Given the description of an element on the screen output the (x, y) to click on. 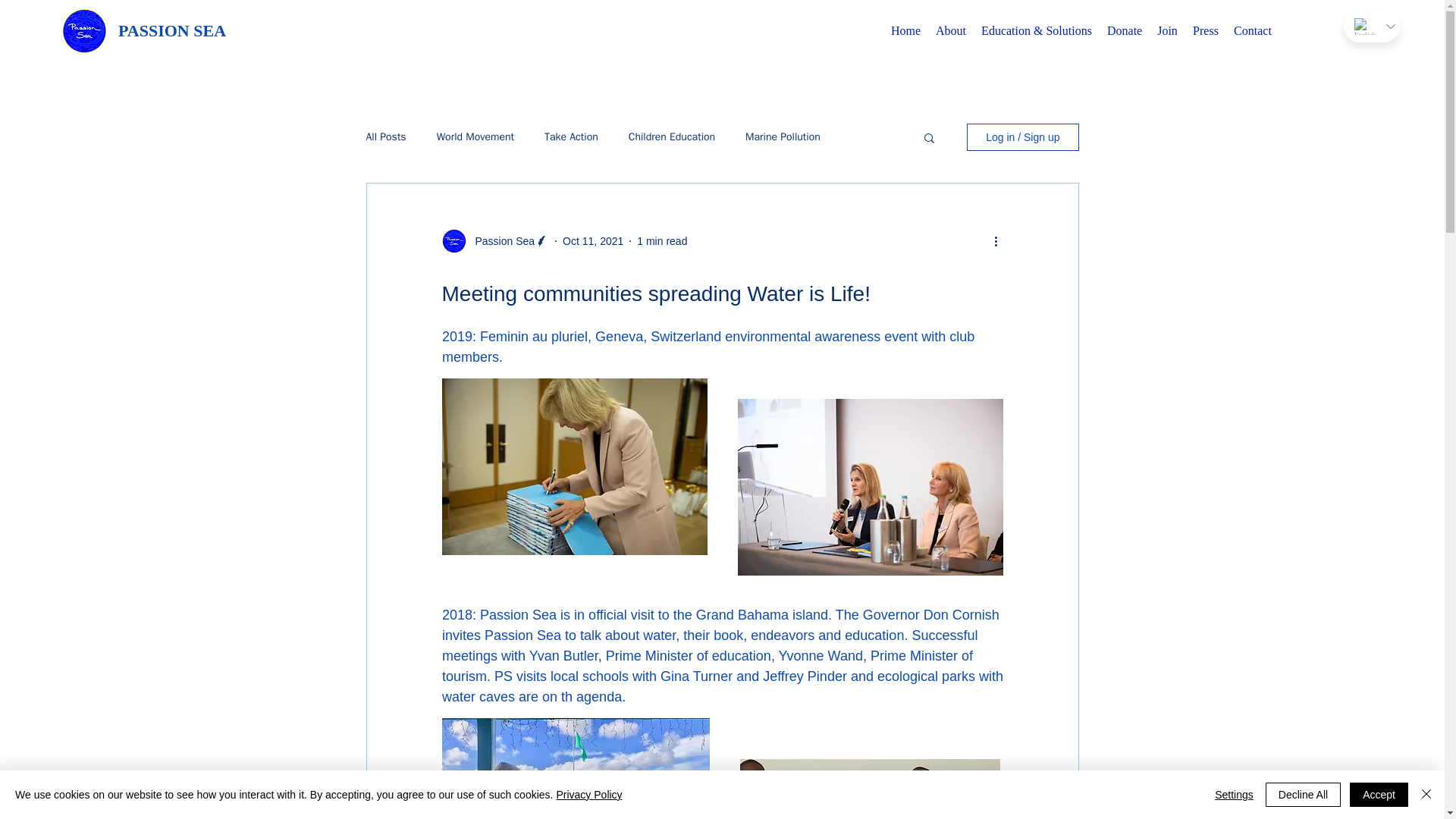
Marine Pollution (783, 137)
World Movement (474, 137)
Join (1167, 30)
Children Education (671, 137)
Oct 11, 2021 (592, 241)
1 min read (662, 241)
Contact (1252, 30)
Passion Sea (499, 241)
Home (905, 30)
PASSION SEA (171, 30)
